Given the description of an element on the screen output the (x, y) to click on. 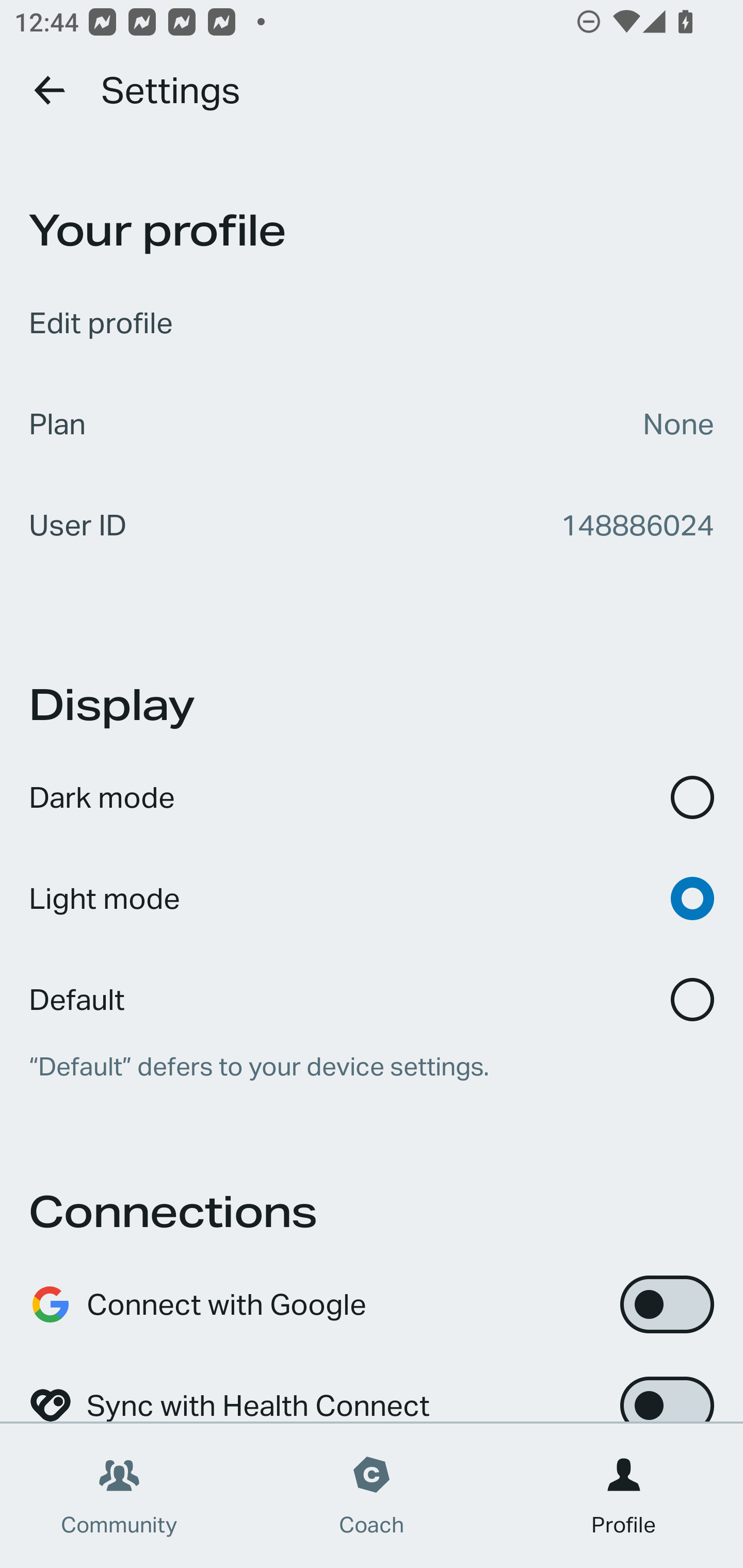
Go back (50, 90)
Edit profile (371, 322)
Plan None (371, 424)
User ID 148886024 (371, 525)
Dark mode (371, 797)
Light mode (371, 898)
Default (371, 985)
“Default” defers to your device settings. (371, 1066)
Connect with Google (371, 1304)
Sync with Health Connect (371, 1388)
Community (119, 1495)
Coach (371, 1495)
